Given the description of an element on the screen output the (x, y) to click on. 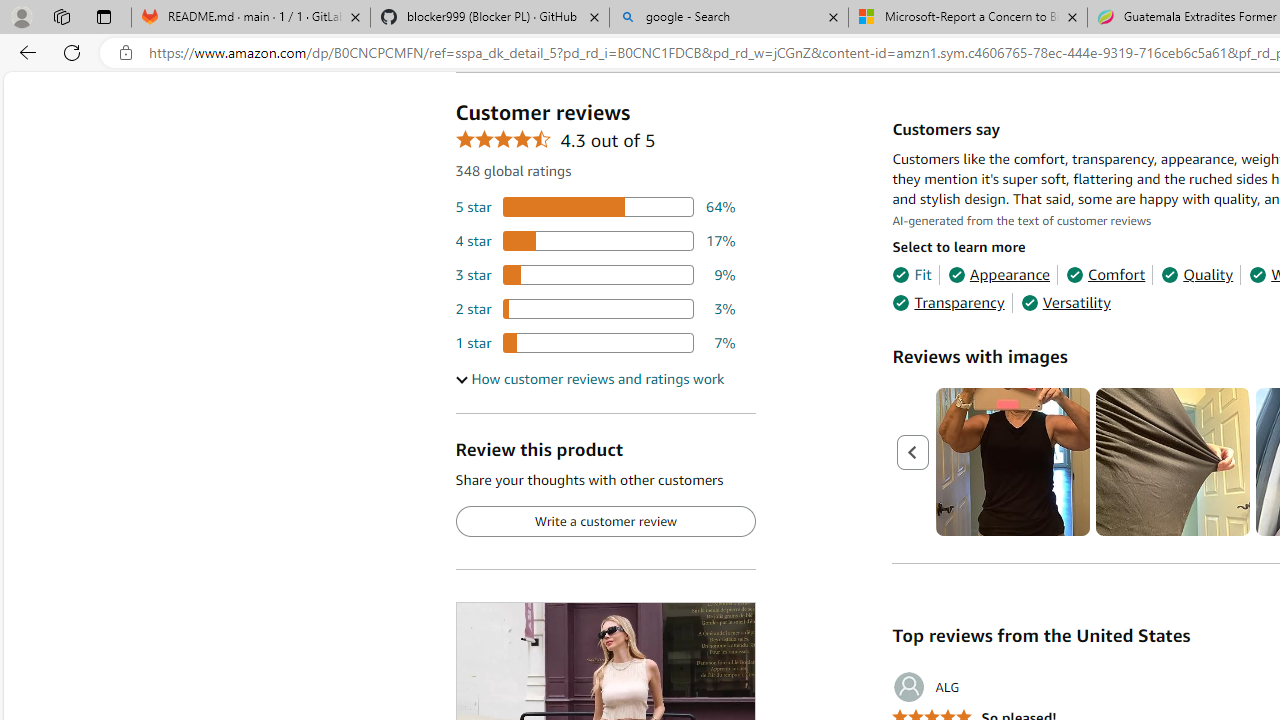
7 percent of reviews have 1 stars (595, 343)
Customer Image (1172, 462)
Versatility (1065, 303)
17 percent of reviews have 4 stars (595, 241)
9 percent of reviews have 3 stars (595, 274)
ALG (926, 687)
Transparency (948, 303)
Quality (1196, 274)
Appearance (998, 274)
Previous page (913, 452)
